Given the description of an element on the screen output the (x, y) to click on. 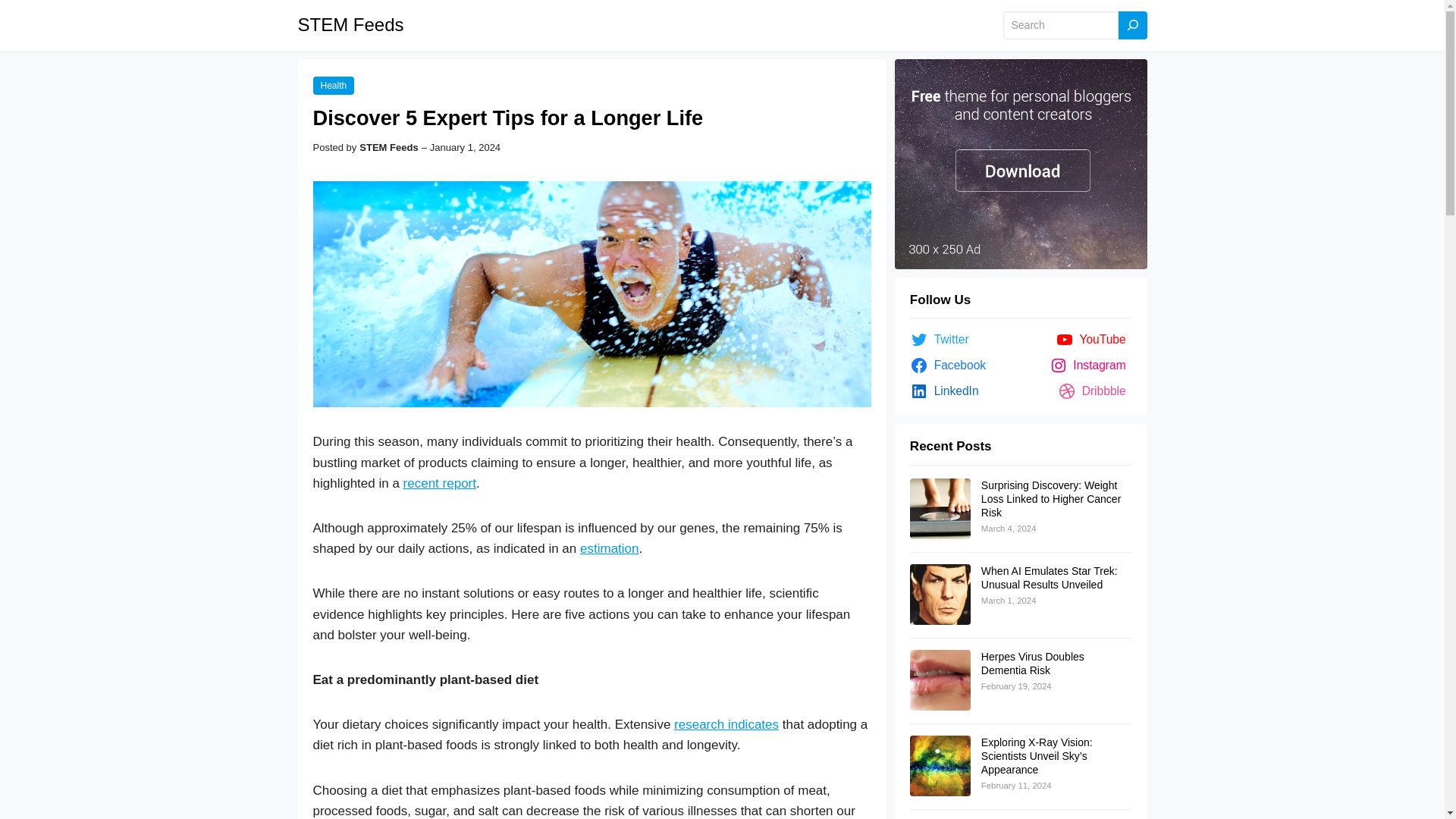
STEM Feeds (350, 24)
recent report (439, 482)
research indicates (726, 724)
estimation (609, 548)
Health (333, 85)
